Given the description of an element on the screen output the (x, y) to click on. 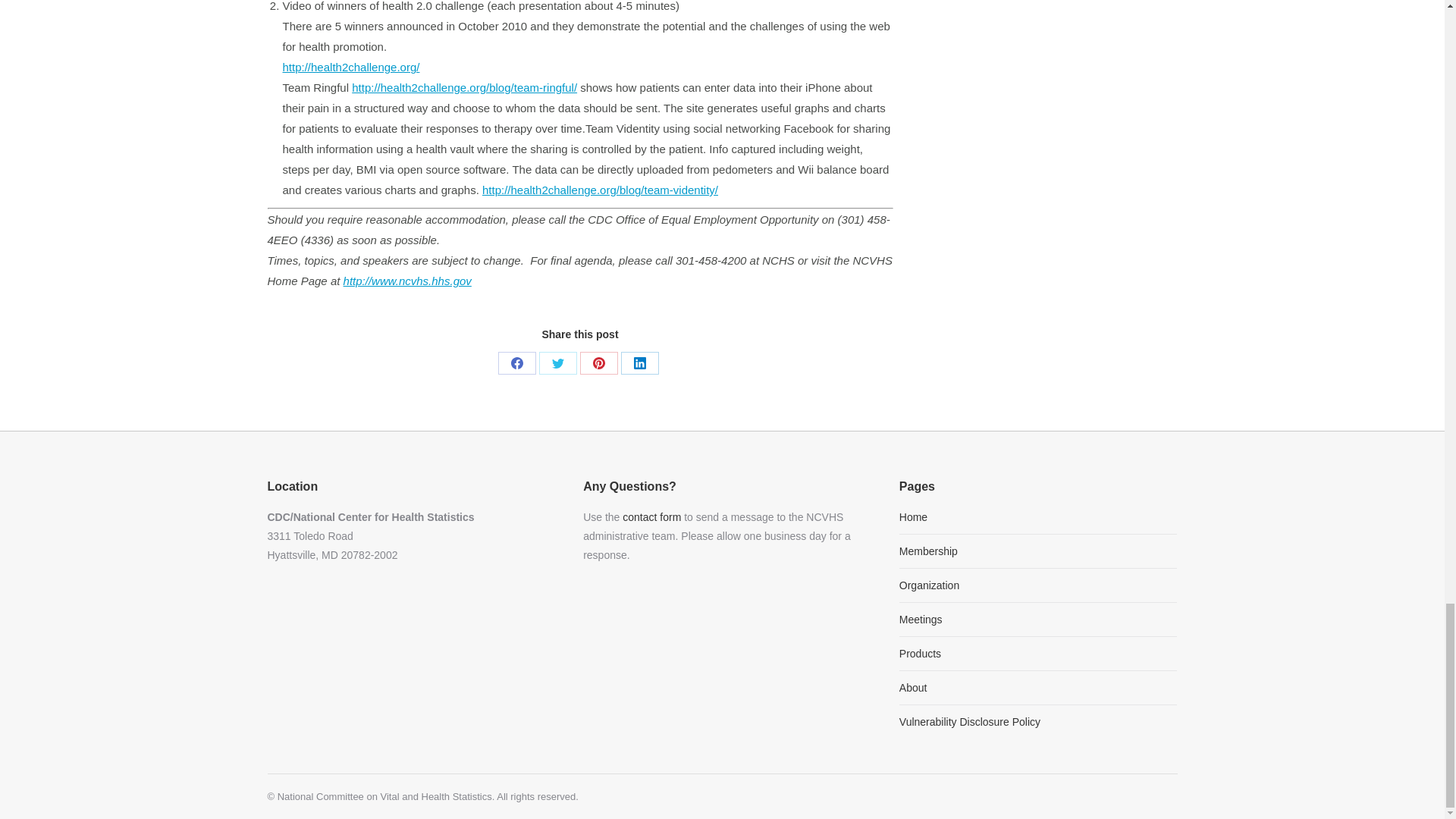
Pinterest (598, 363)
Facebook (516, 363)
LinkedIn (640, 363)
Twitter (557, 363)
